Given the description of an element on the screen output the (x, y) to click on. 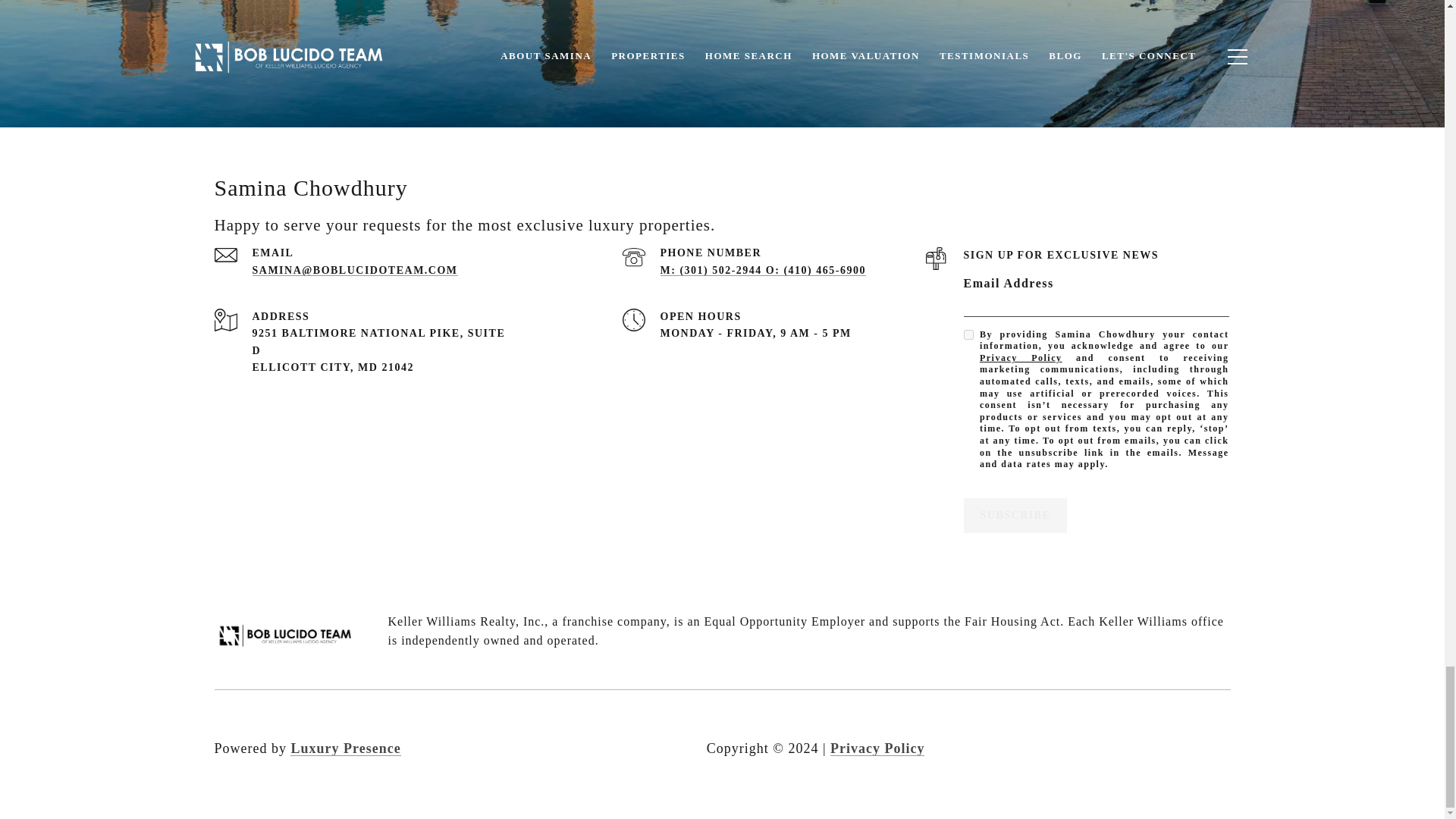
on (967, 334)
